Given the description of an element on the screen output the (x, y) to click on. 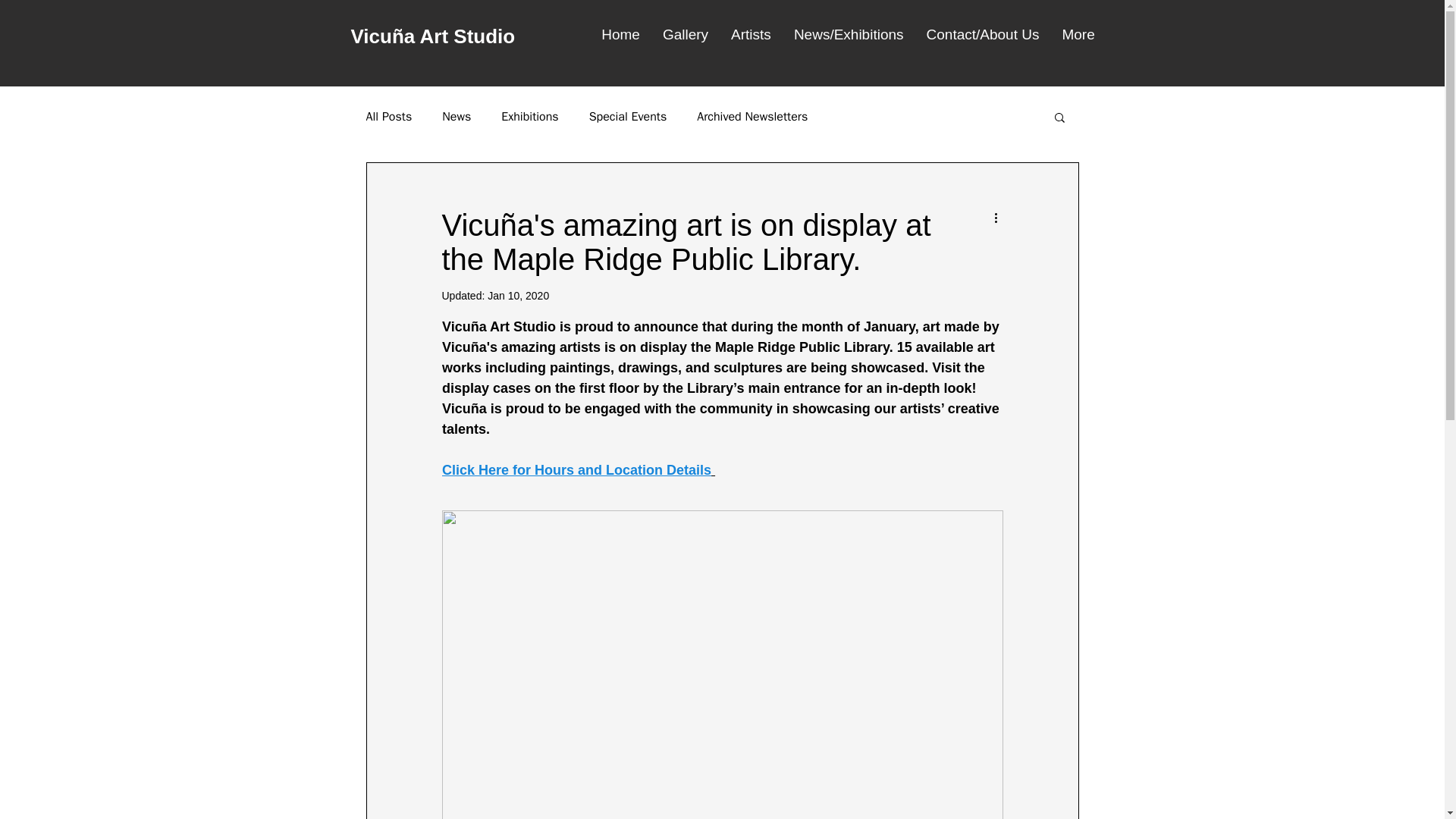
Gallery (684, 38)
Jan 10, 2020 (517, 295)
News (456, 116)
Home (619, 38)
Archived Newsletters (752, 116)
Special Events (627, 116)
Artists (751, 38)
All Posts (388, 116)
Click Here for Hours and Location Details (575, 469)
Exhibitions (528, 116)
